Given the description of an element on the screen output the (x, y) to click on. 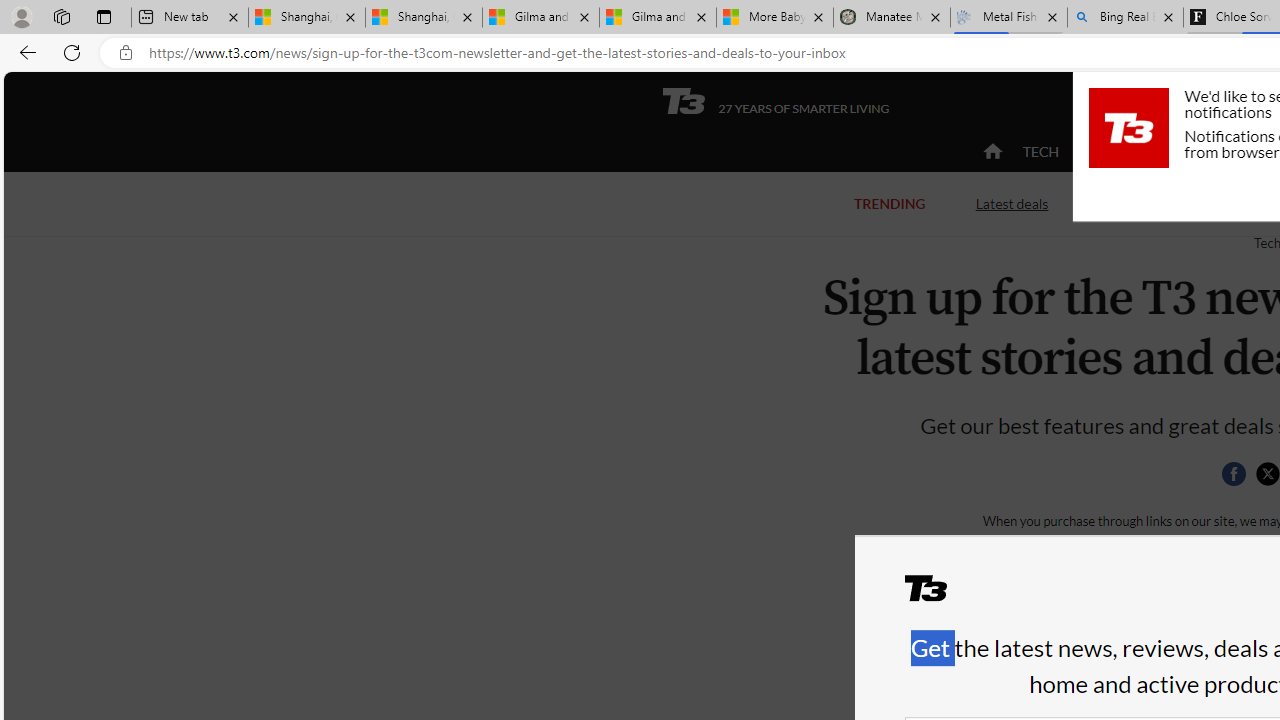
Manatee Mortality Statistics | FWC (891, 17)
HOME LIVING (1233, 151)
Class: icon-svg (1267, 474)
TECH (1040, 151)
T3 27 YEARS OF SMARTER LIVING (775, 101)
ACTIVE (1124, 151)
Class: social__item (1238, 477)
Latest deals (1011, 202)
